Given the description of an element on the screen output the (x, y) to click on. 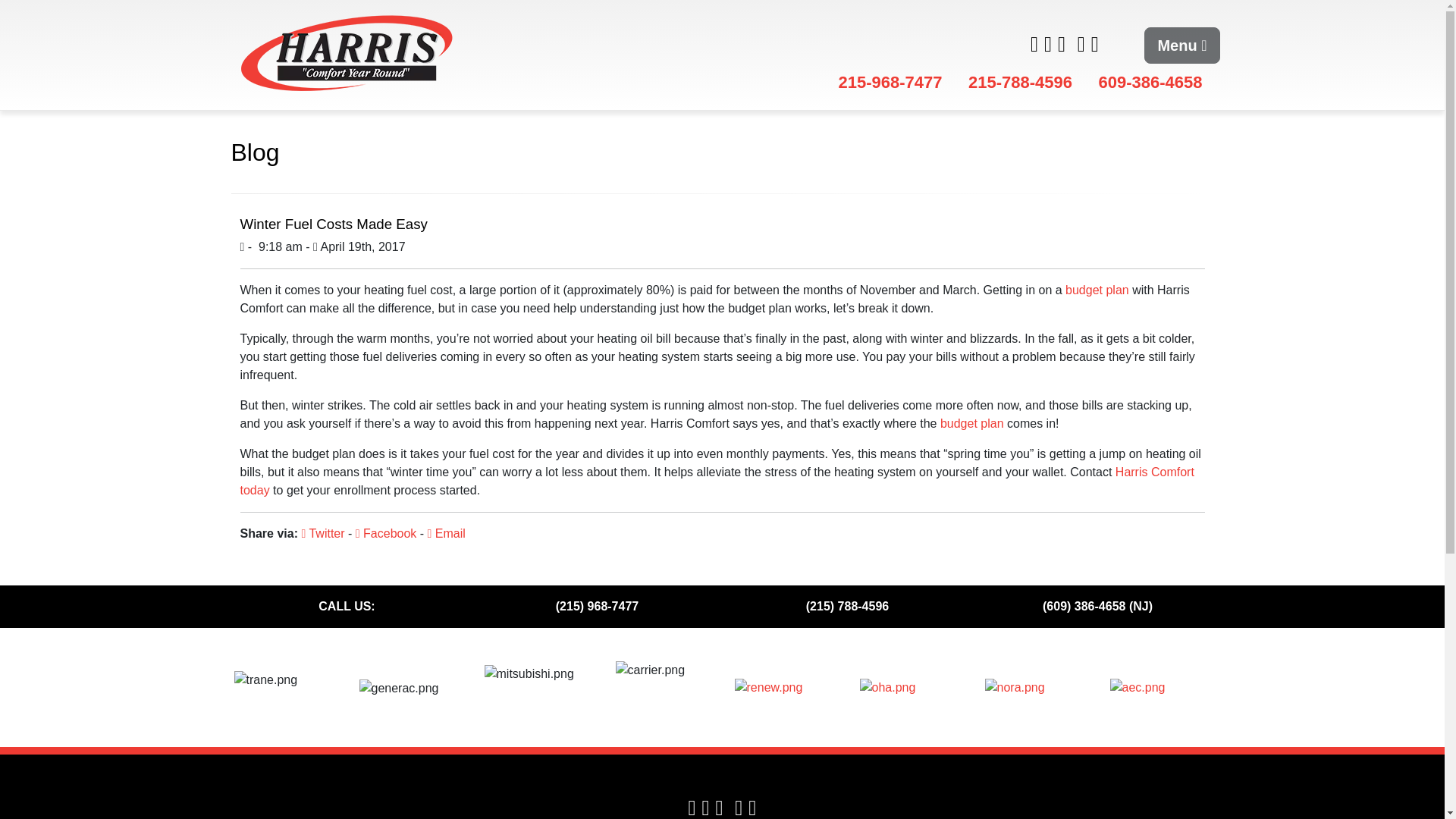
Budget Plan (1097, 289)
Budget Plan (972, 422)
Menu (1182, 45)
